Given the description of an element on the screen output the (x, y) to click on. 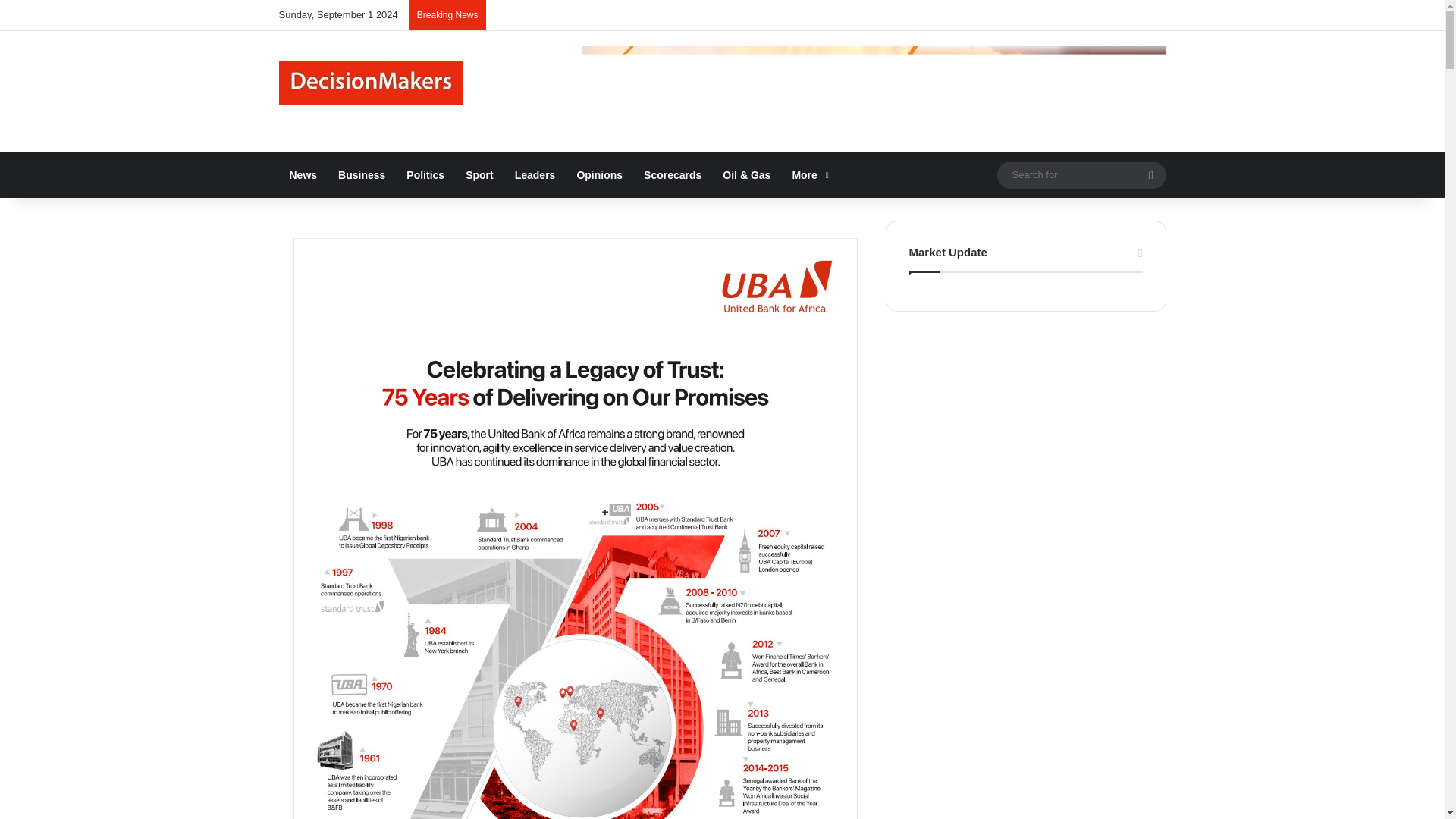
Politics (425, 175)
Business (361, 175)
More (807, 175)
Sport (478, 175)
Leaders (534, 175)
Opinions (599, 175)
Search for (1150, 175)
DecisionMakers News (371, 82)
Scorecards (672, 175)
Search for (1080, 174)
